Given the description of an element on the screen output the (x, y) to click on. 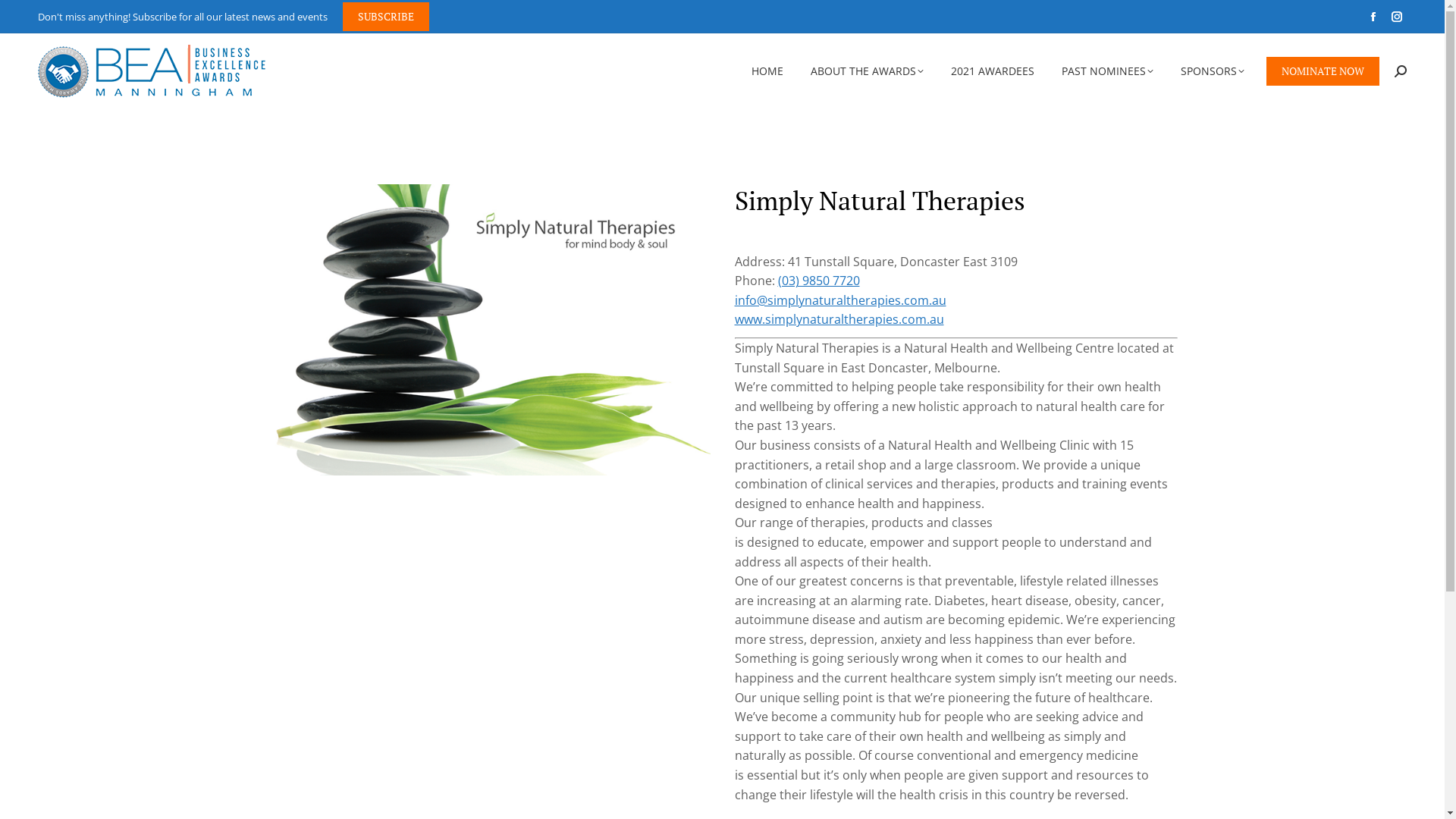
Go! Element type: text (24, 16)
Instagram page opens in new window Element type: text (1396, 16)
HOME Element type: text (767, 70)
ABOUT THE AWARDS Element type: text (866, 70)
Go! Element type: text (746, 438)
SPONSORS Element type: text (1212, 70)
info@simplynaturaltherapies.com.au Element type: text (839, 299)
www.simplynaturaltherapies.com.au Element type: text (838, 318)
2021 AWARDEES Element type: text (992, 70)
SUBSCRIBE Element type: text (385, 16)
NOMINATE NOW Element type: text (1322, 70)
Facebook page opens in new window Element type: text (1373, 16)
(03) 9850 7720 Element type: text (818, 280)
PAST NOMINEES Element type: text (1107, 70)
